Given the description of an element on the screen output the (x, y) to click on. 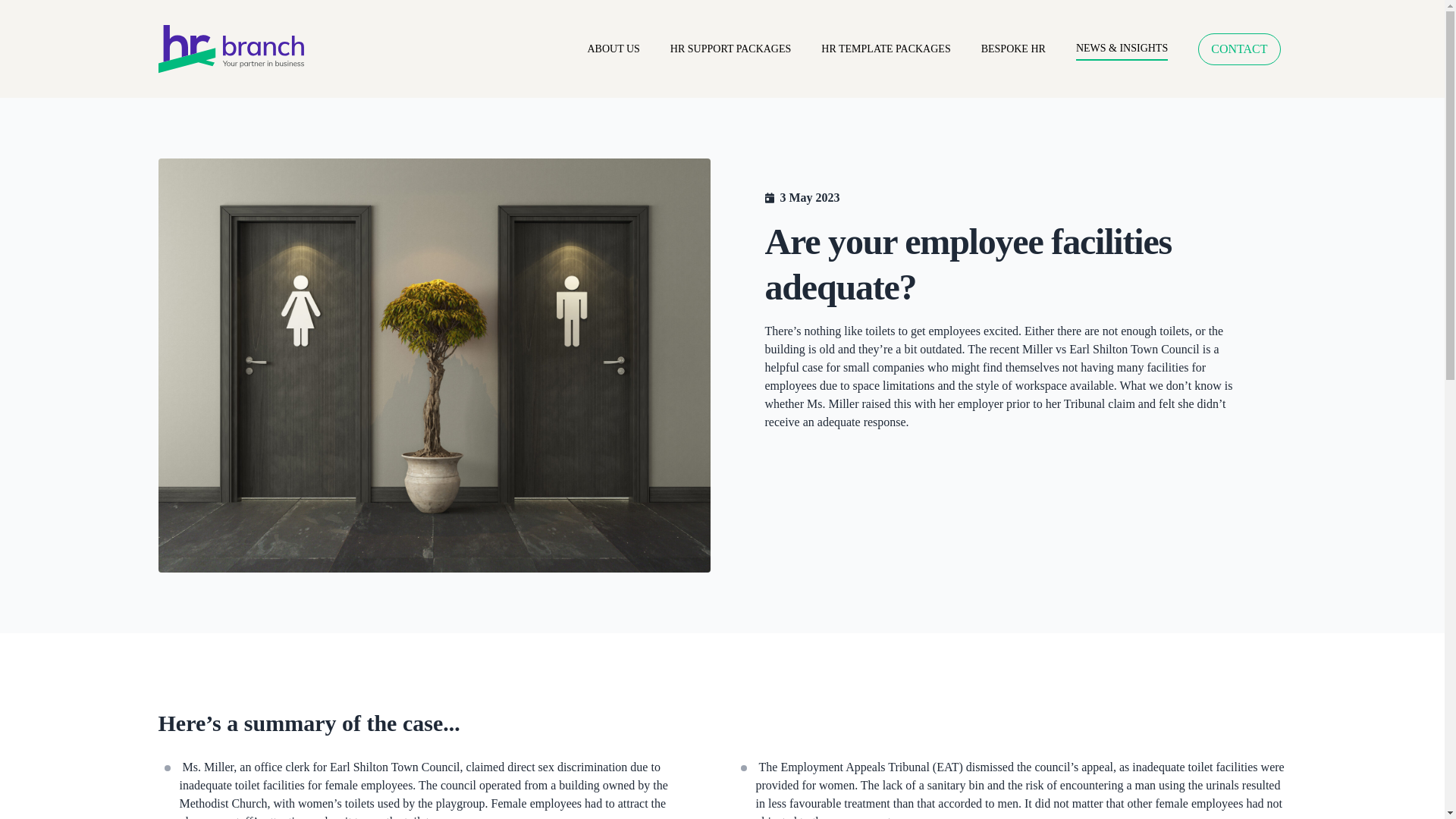
ABOUT US (612, 48)
HR TEMPLATE PACKAGES (885, 48)
HR SUPPORT PACKAGES (729, 48)
HR Branch (240, 48)
CONTACT (1238, 49)
BESPOKE HR (1013, 48)
